Given the description of an element on the screen output the (x, y) to click on. 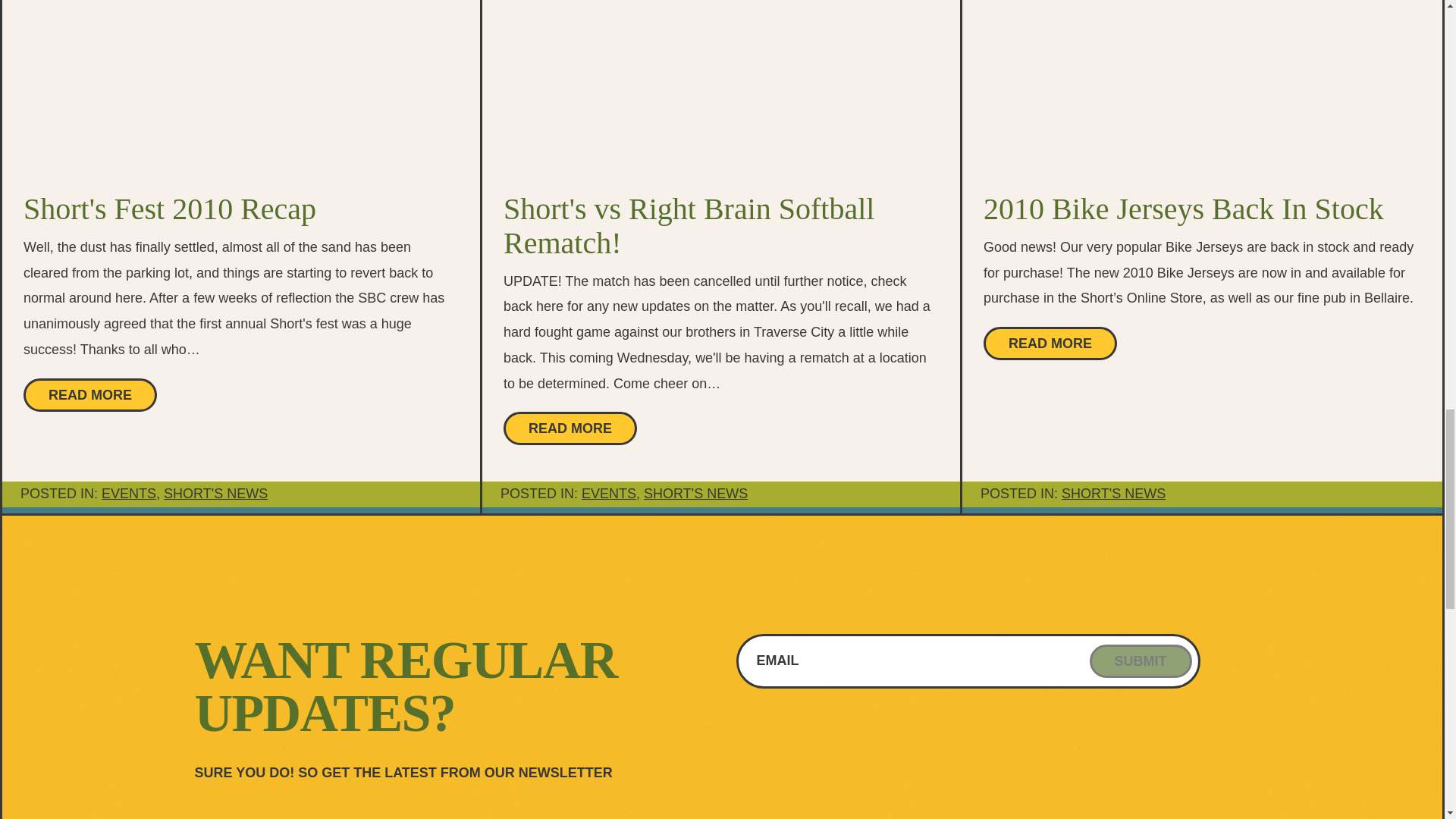
Submit (1140, 661)
